Given the description of an element on the screen output the (x, y) to click on. 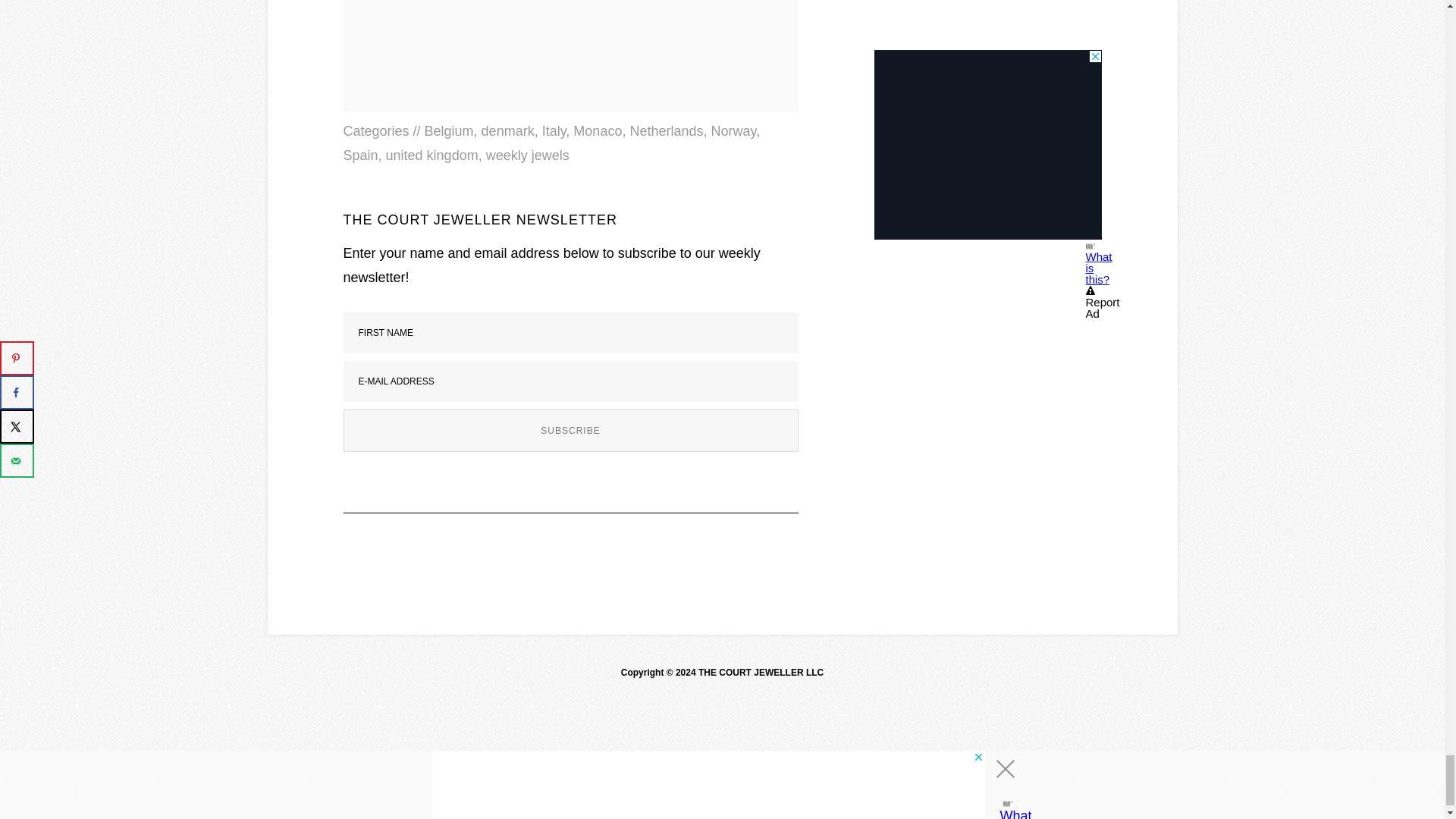
Subscribe (569, 430)
